Given the description of an element on the screen output the (x, y) to click on. 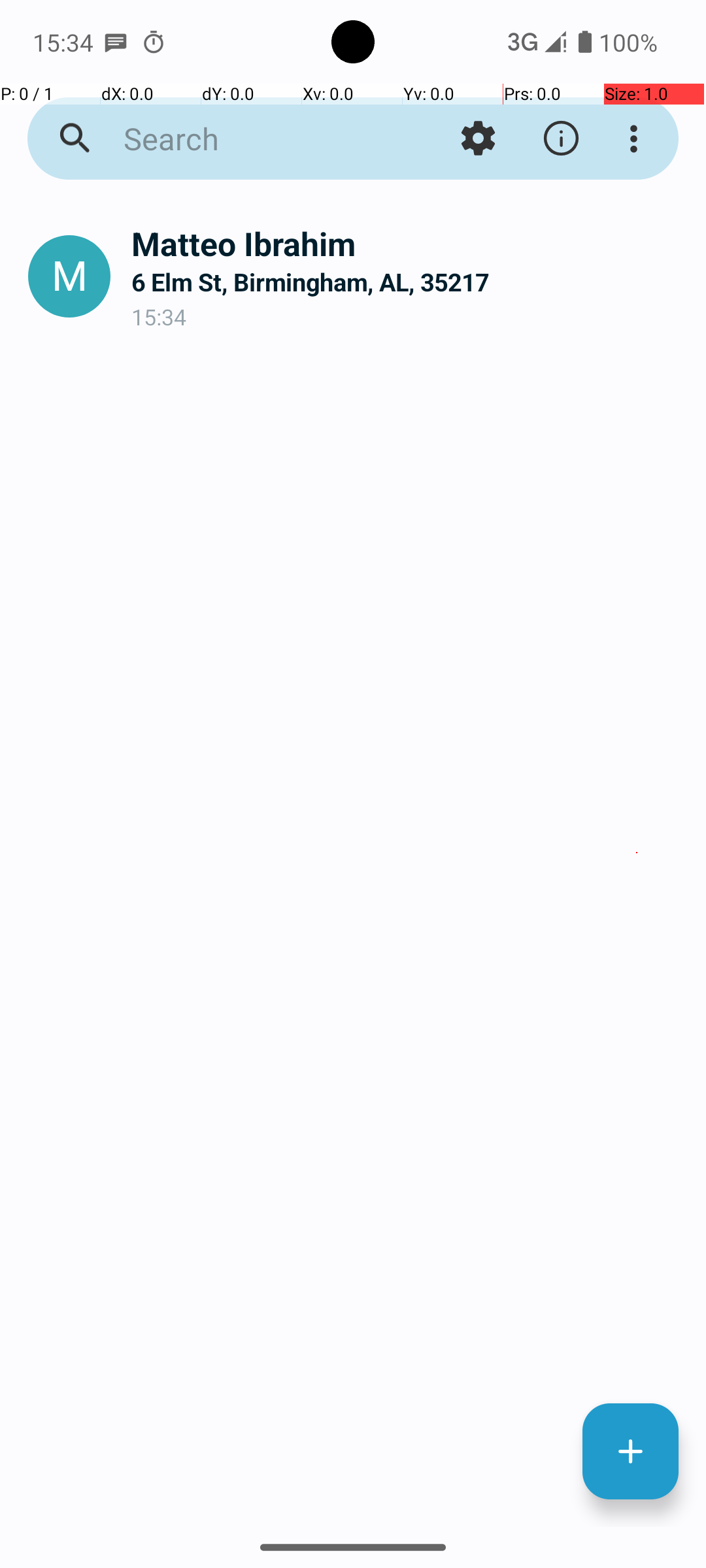
Matteo Ibrahim Element type: android.widget.TextView (408, 242)
6 Elm St, Birmingham, AL, 35217 Element type: android.widget.TextView (408, 281)
